Given the description of an element on the screen output the (x, y) to click on. 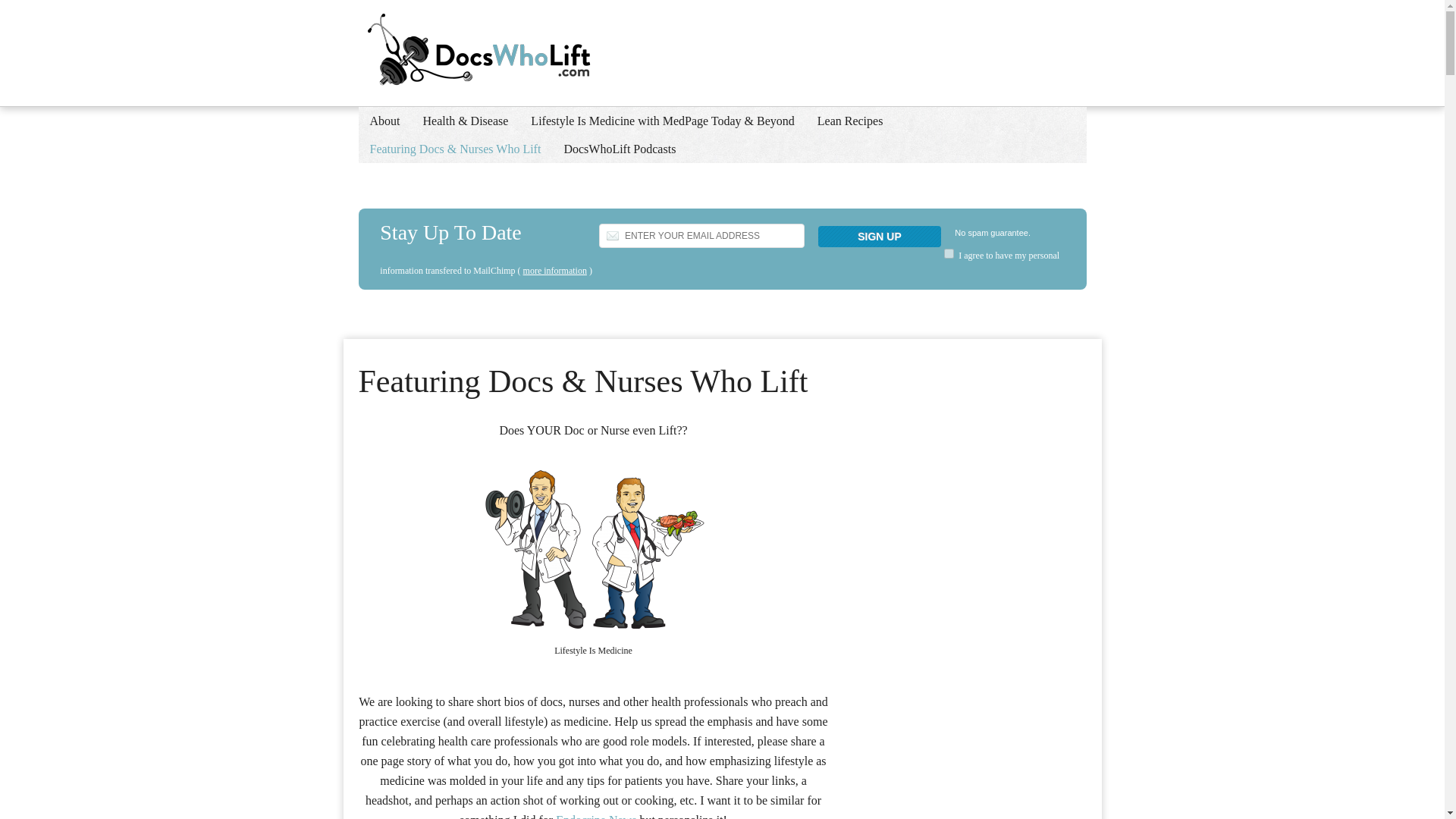
About (384, 121)
DocsWhoLift (490, 51)
on (948, 253)
Endocrine News (596, 816)
DocsWhoLift Podcasts (619, 148)
Sign Up (879, 236)
more information (554, 270)
Lean Recipes (850, 121)
Sign Up (879, 236)
